Given the description of an element on the screen output the (x, y) to click on. 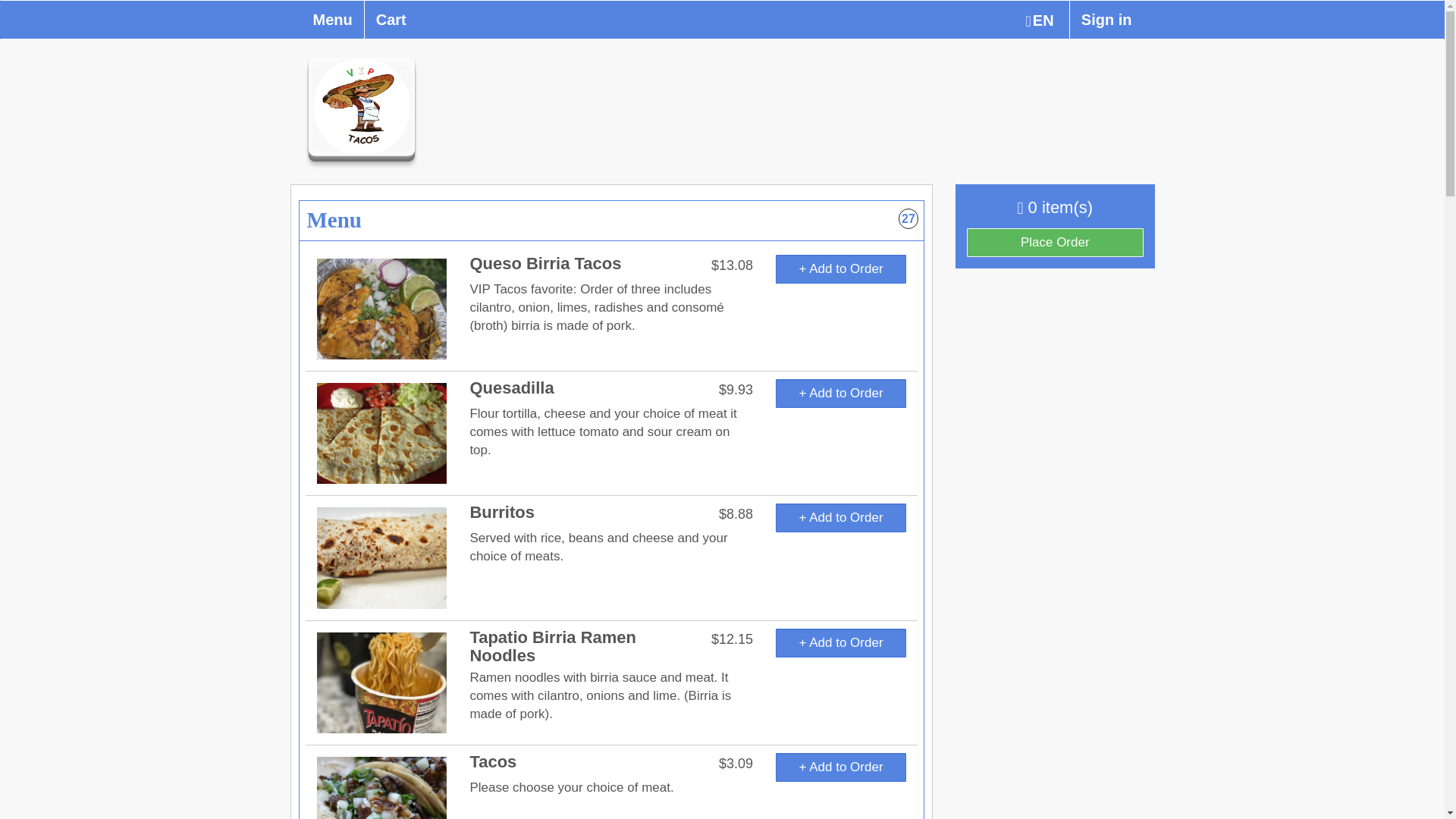
Sign in (1105, 19)
Menu (333, 19)
Cart (391, 19)
Place Order (1054, 242)
